Given the description of an element on the screen output the (x, y) to click on. 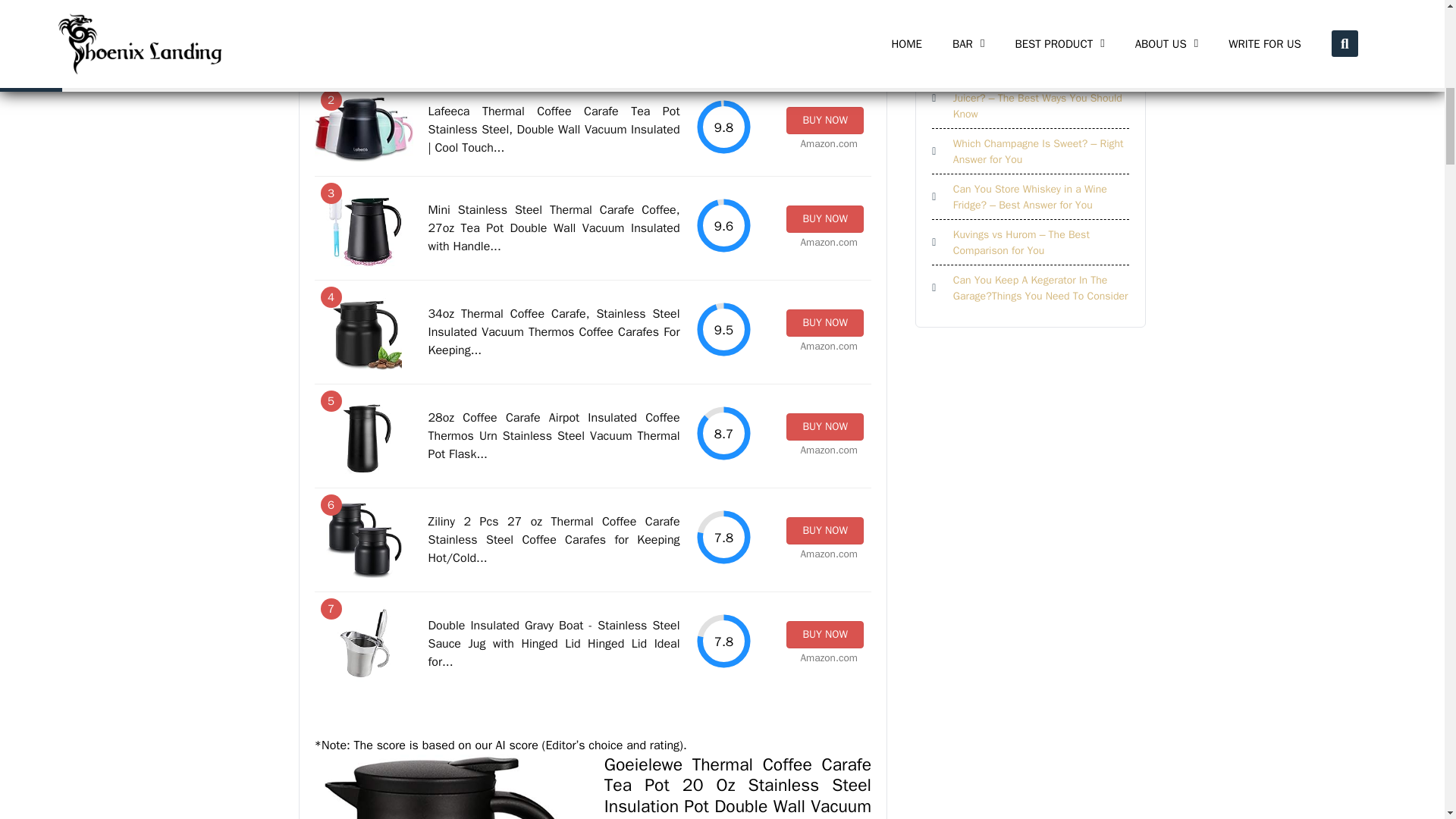
9.8 (723, 28)
9.5 (723, 329)
9.8 (723, 126)
7.8 (723, 536)
8.7 (723, 432)
7.8 (723, 640)
9.6 (723, 225)
